Given the description of an element on the screen output the (x, y) to click on. 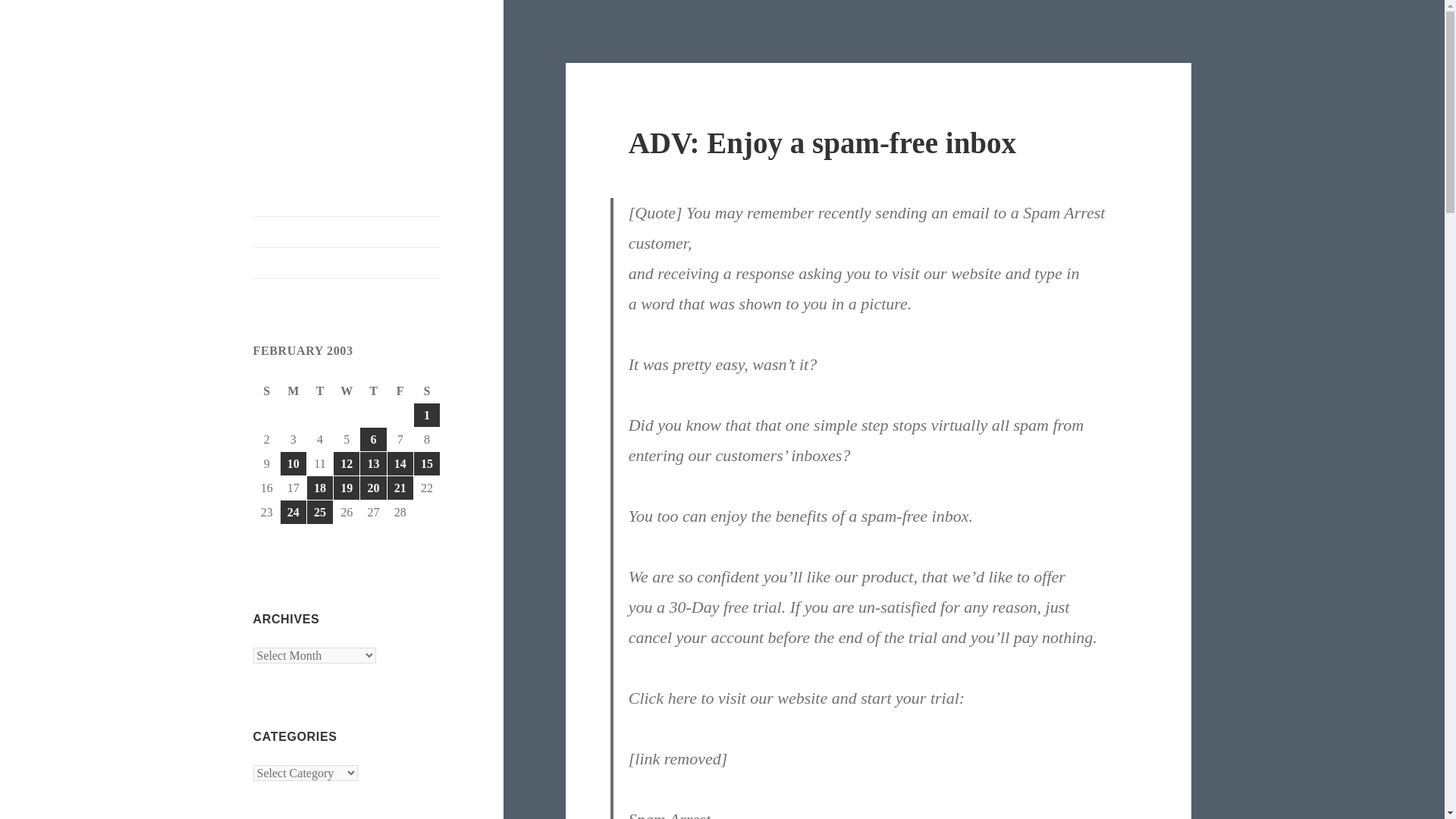
Friday (400, 391)
Home (347, 232)
14 (400, 463)
18 (320, 487)
12 (346, 463)
Monday (294, 391)
15 (426, 463)
1 (426, 414)
10 (293, 463)
21 (400, 487)
6 (372, 439)
I once was a blue haired freak (337, 86)
25 (320, 512)
Thursday (373, 391)
Sunday (267, 391)
